Given the description of an element on the screen output the (x, y) to click on. 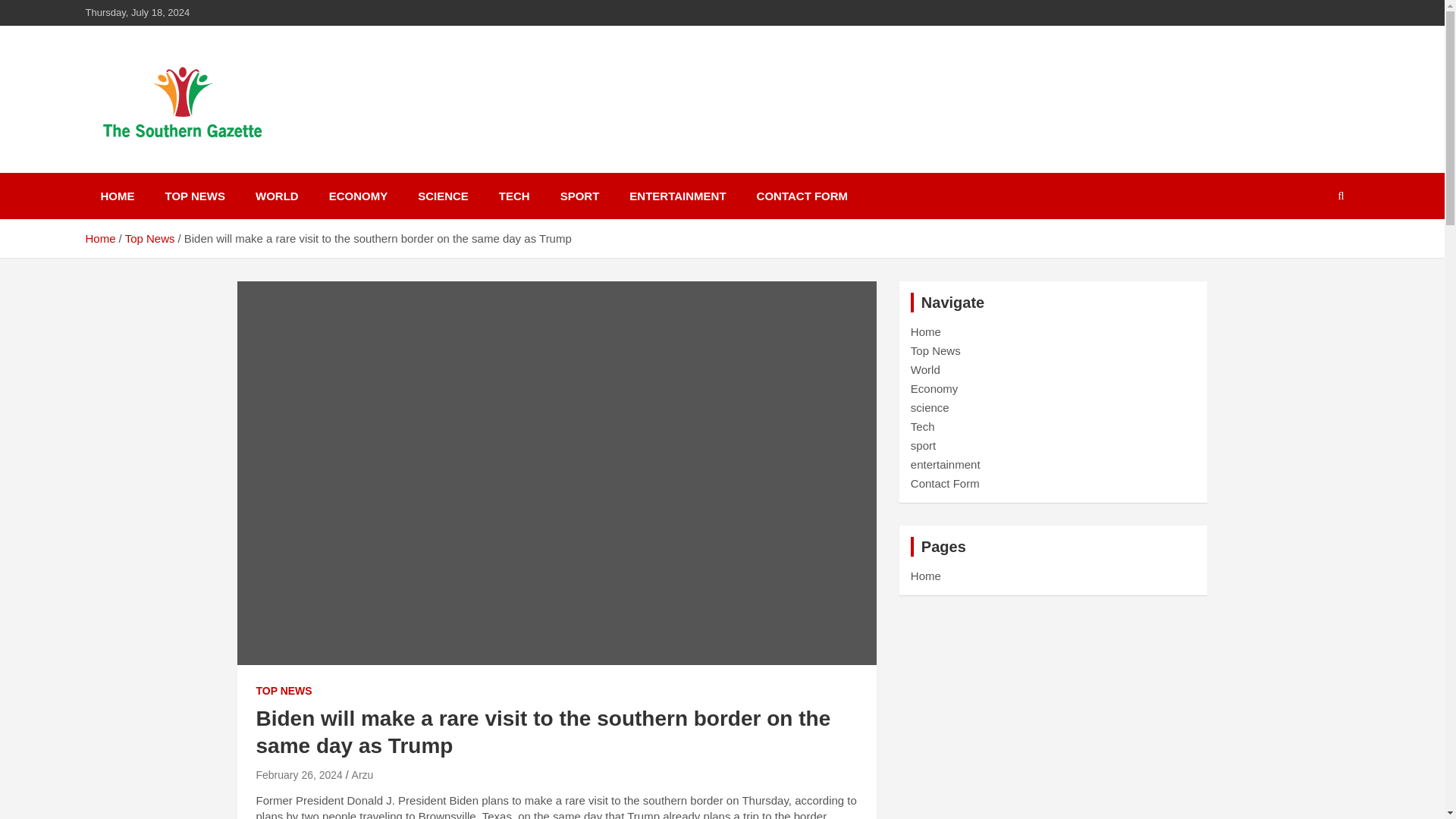
HOME (116, 195)
The Southern Gazette (240, 169)
Economy (934, 388)
World (925, 369)
SCIENCE (443, 195)
TECH (513, 195)
Home (925, 331)
Contact Form (945, 482)
TOP NEWS (194, 195)
ENTERTAINMENT (677, 195)
February 26, 2024 (299, 775)
Top News (149, 237)
Tech (922, 426)
sport (923, 445)
TOP NEWS (284, 691)
